Given the description of an element on the screen output the (x, y) to click on. 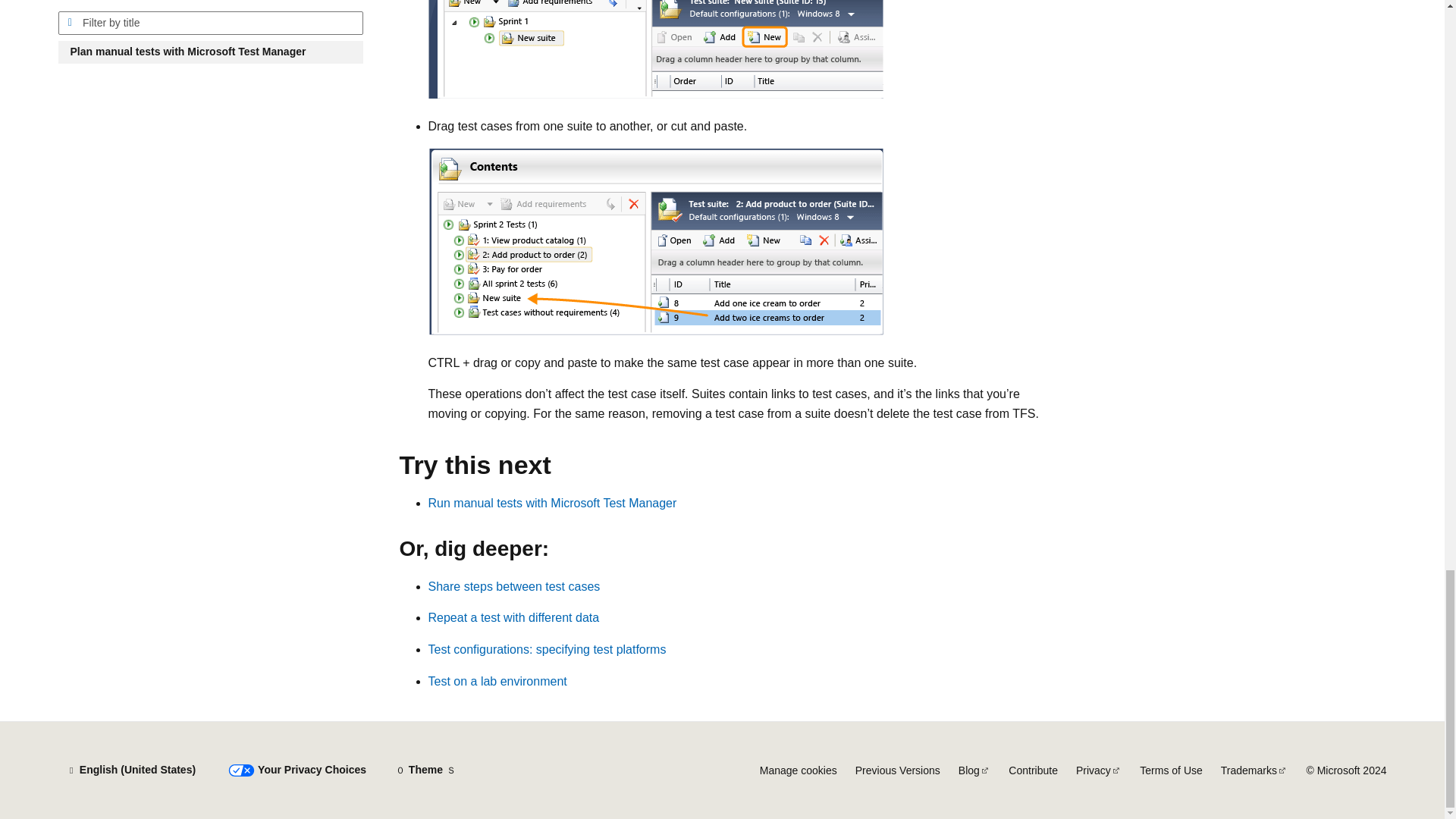
Create a test case in a suite (655, 49)
Theme (425, 770)
Drag test cases from one suite to another (655, 241)
